Given the description of an element on the screen output the (x, y) to click on. 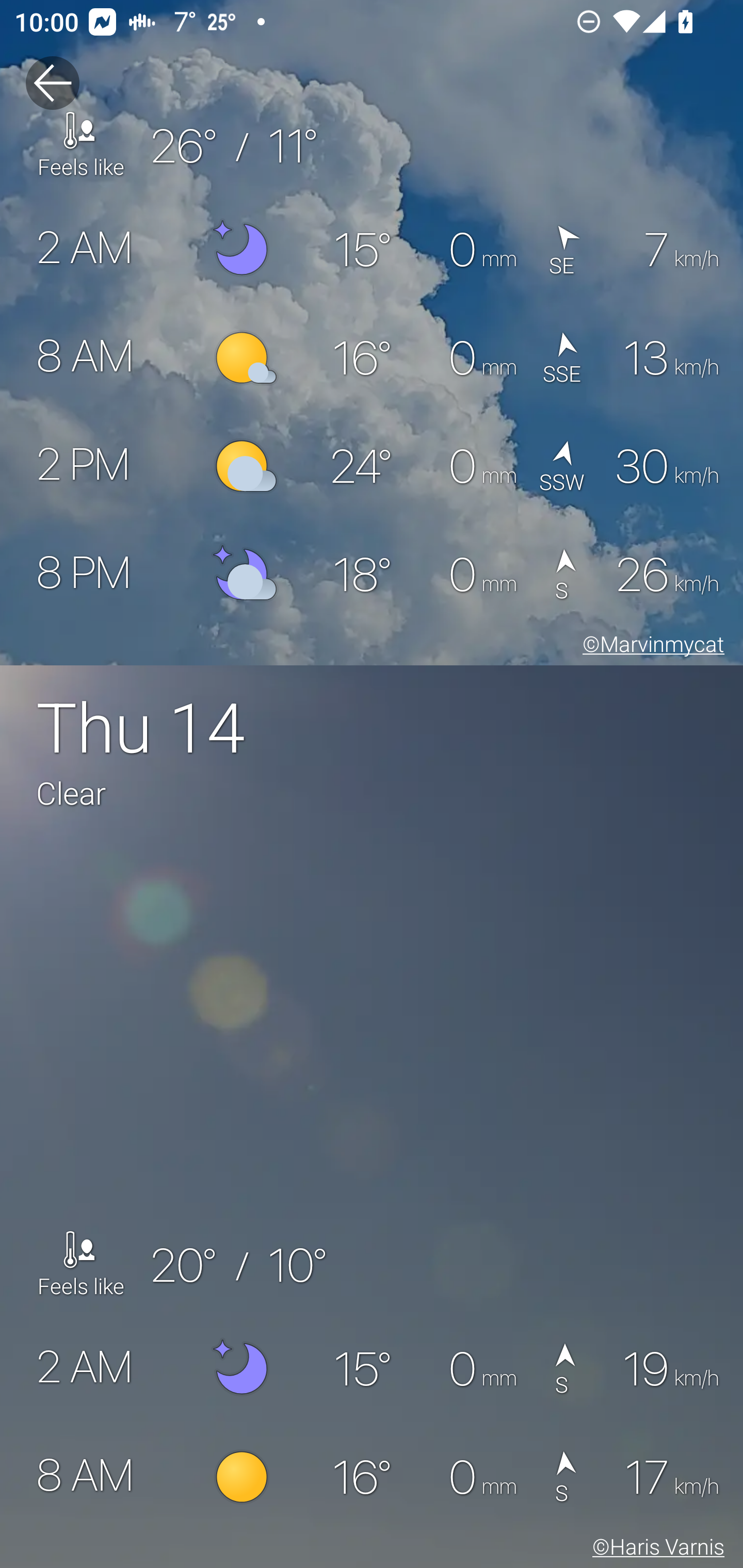
2 AM 15° 0 mm  SE 7 km/h (371, 250)
8 AM 16° 0 mm  SSE 13 km/h (371, 358)
2 PM 24° 0 mm  SSW 30 km/h (371, 466)
8 PM 18° 0 mm  S 26 km/h (371, 574)
©Marvinmycat (650, 646)
2 AM 15° 0 mm  S 19 km/h (371, 1368)
8 AM 16° 0 mm  S 17 km/h (371, 1477)
©Haris Varnis (655, 1549)
